Given the description of an element on the screen output the (x, y) to click on. 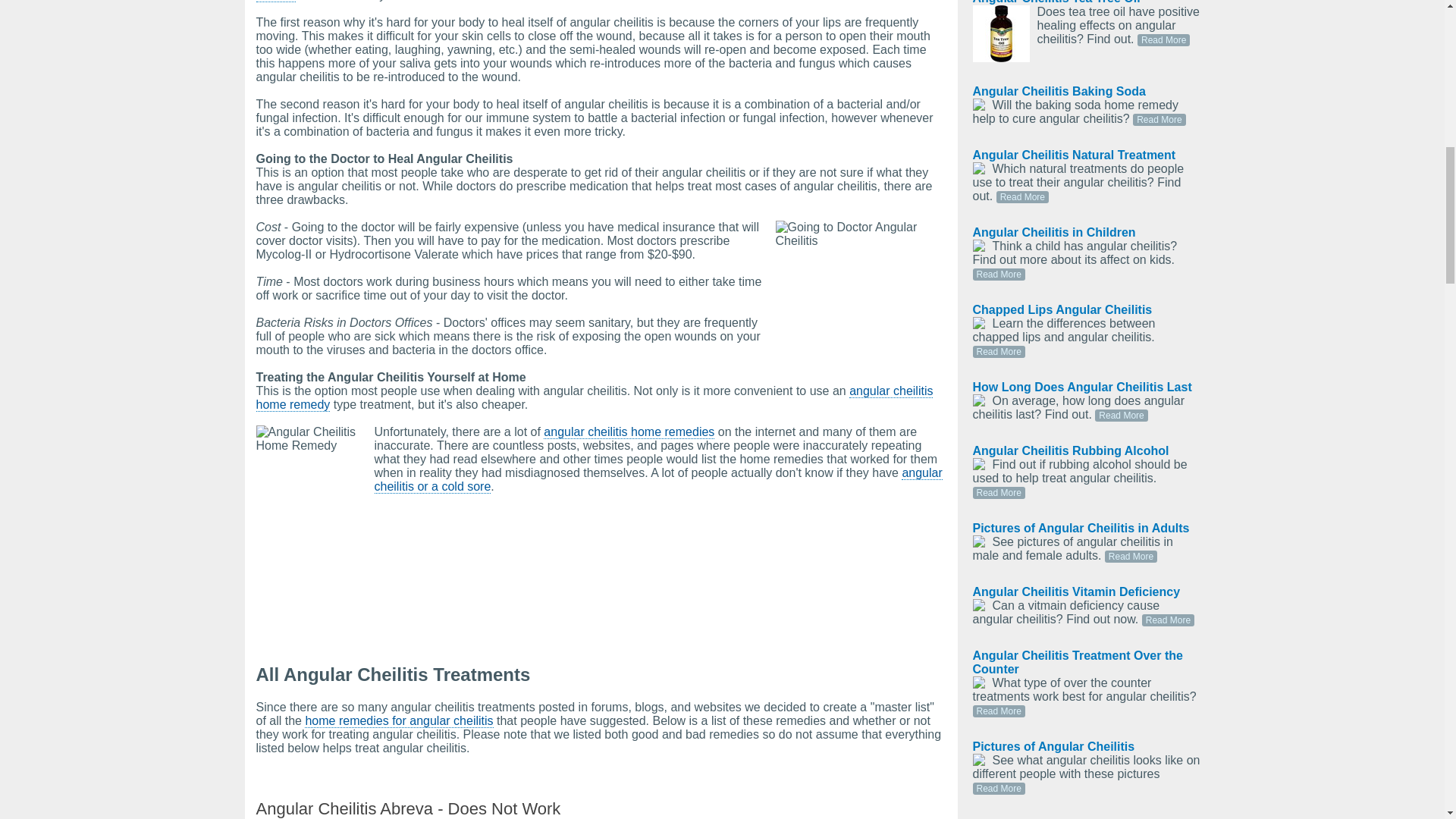
home remedies for angular cheilitis (398, 721)
angular cheilitis home remedies (628, 431)
angular cheilitis home remedy (594, 397)
angular cheilitis or a cold sore (658, 479)
